Given the description of an element on the screen output the (x, y) to click on. 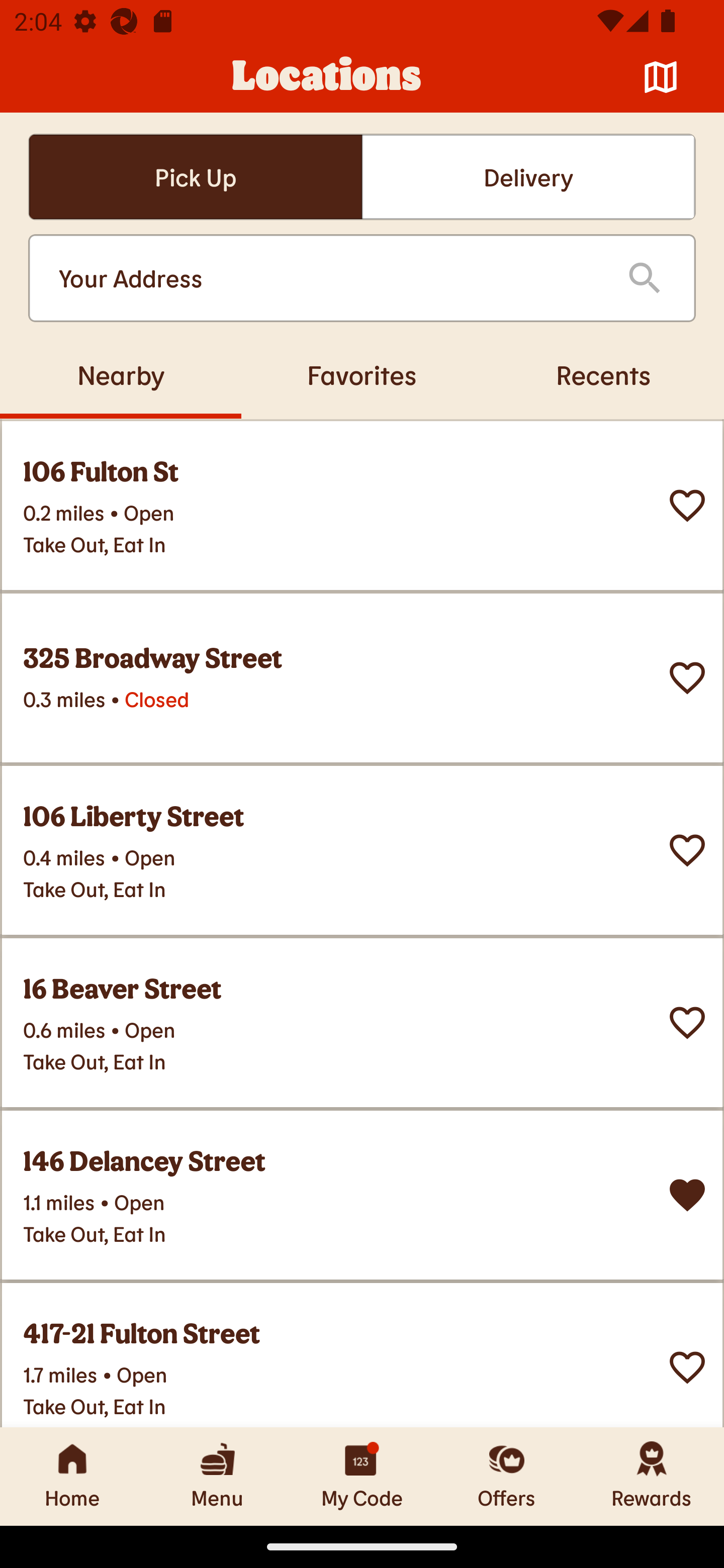
Map 󰦂 (660, 77)
Locations (326, 77)
Pick UpSelected Pick UpSelected Pick Up (195, 176)
Delivery Delivery Delivery (528, 176)
Your Address (327, 277)
Nearby (120, 374)
Favorites (361, 374)
Recents (603, 374)
Set this restaurant as a favorite  (687, 505)
Set this restaurant as a favorite  (687, 677)
Set this restaurant as a favorite  (687, 850)
Set this restaurant as a favorite  (687, 1022)
Remove from Favorites?  (687, 1195)
Set this restaurant as a favorite  (687, 1367)
Home (72, 1475)
Menu (216, 1475)
My Code (361, 1475)
Offers (506, 1475)
Rewards (651, 1475)
